Given the description of an element on the screen output the (x, y) to click on. 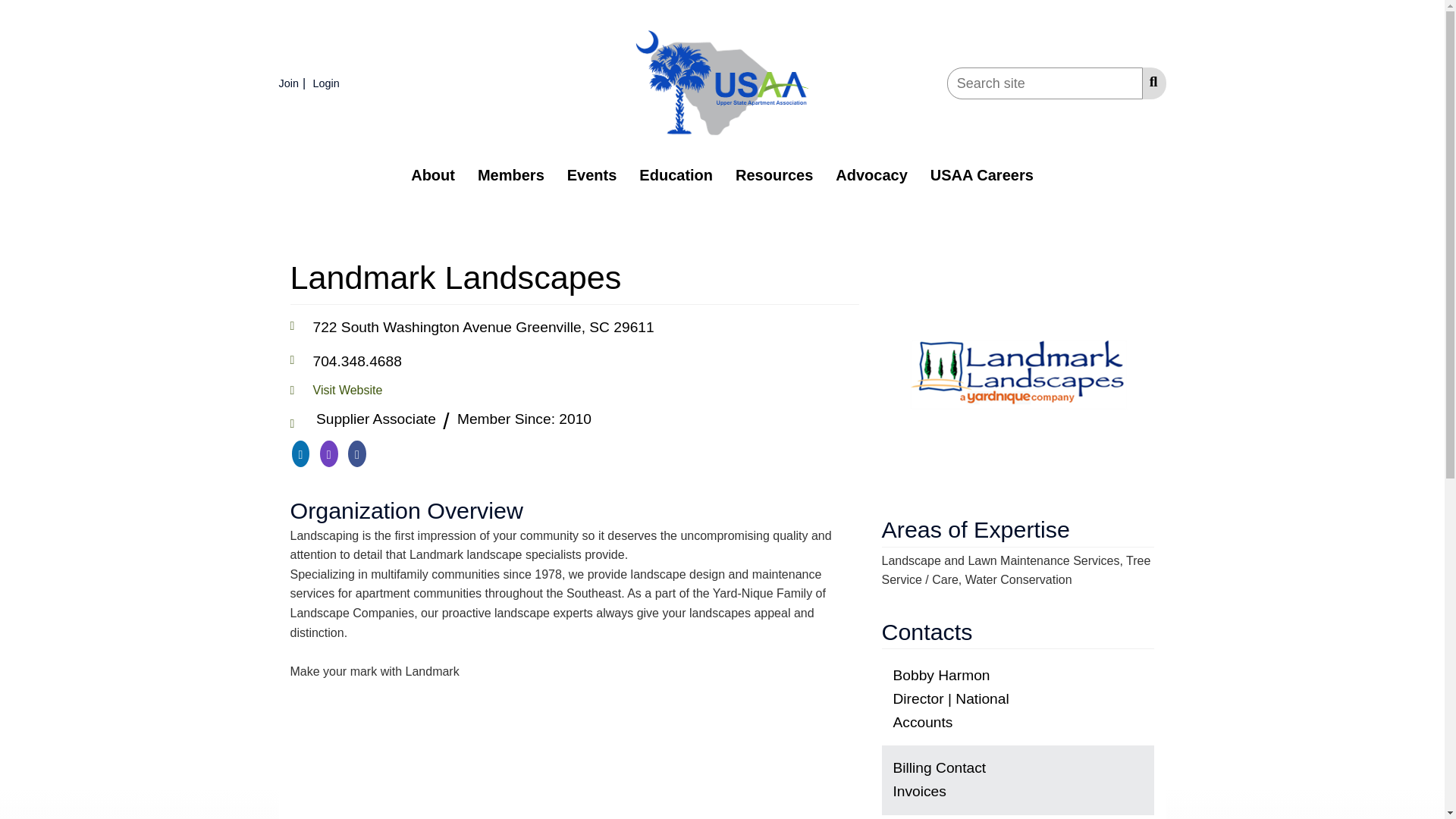
Login (328, 82)
About (431, 174)
Resources (773, 174)
Join (294, 82)
Education (675, 174)
Events (592, 174)
Members (510, 174)
